Given the description of an element on the screen output the (x, y) to click on. 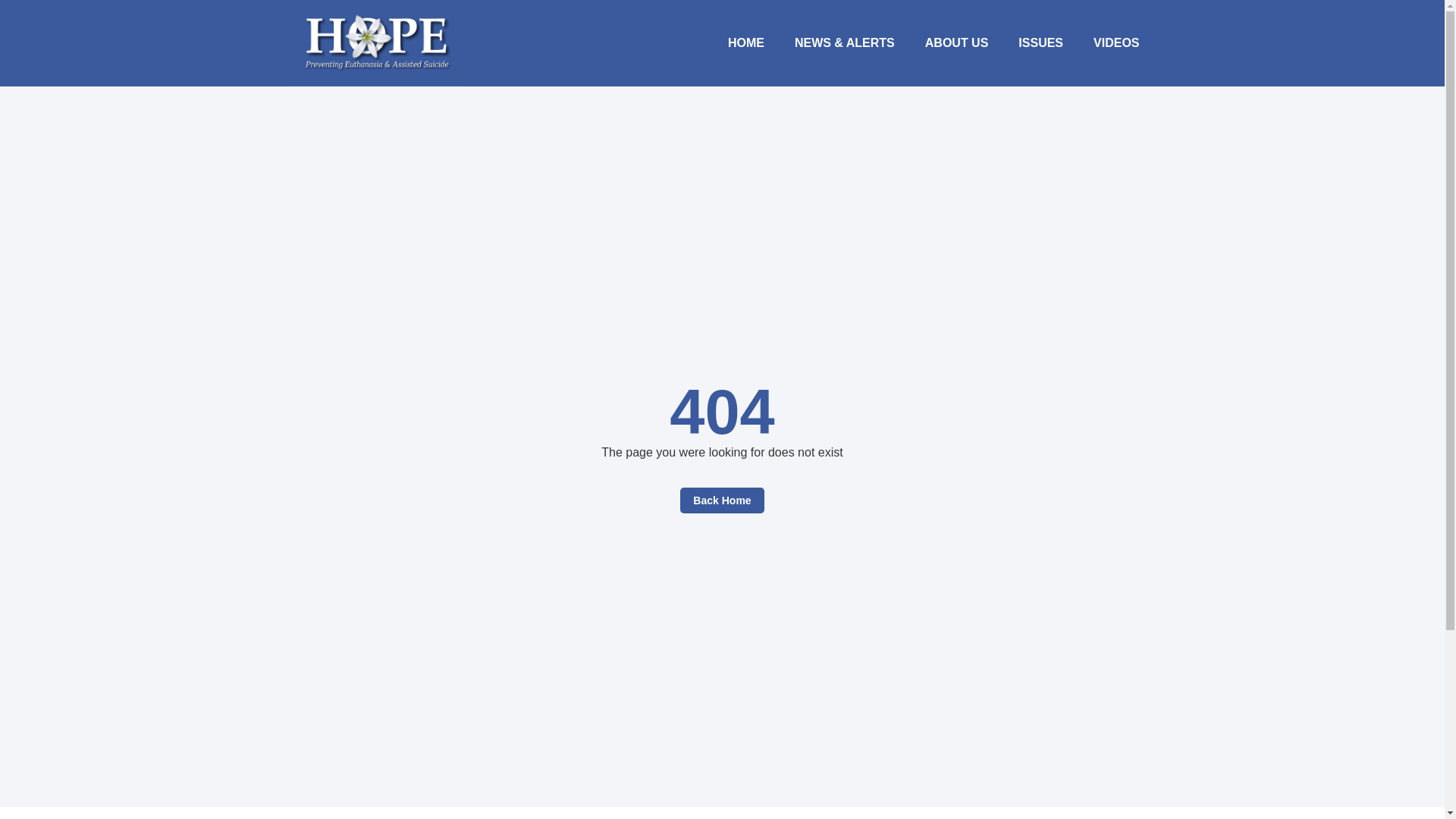
HOME (745, 42)
ISSUES (1040, 42)
Back Home (720, 500)
VIDEOS (1116, 42)
ABOUT US (957, 42)
